Given the description of an element on the screen output the (x, y) to click on. 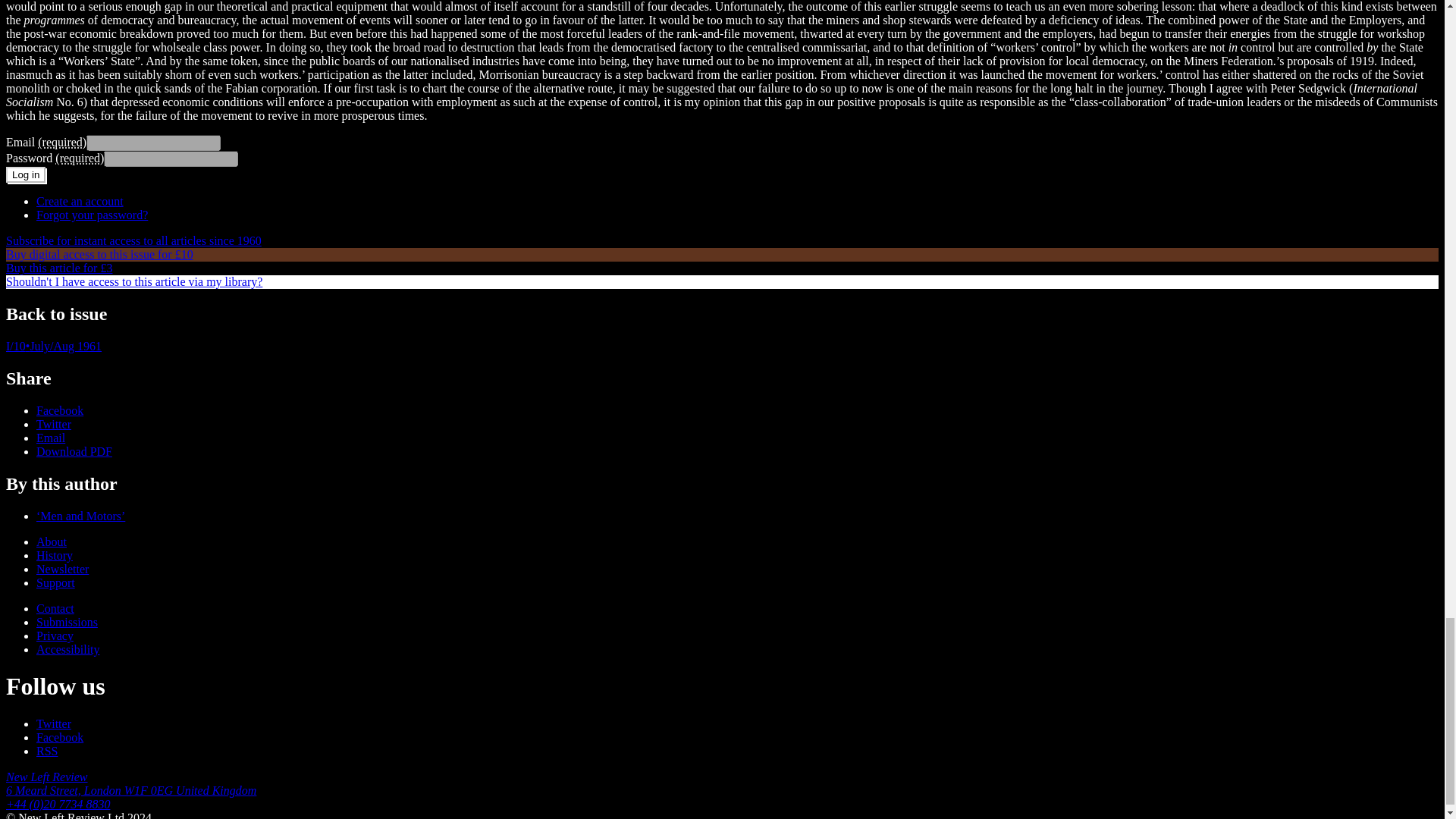
you must complete this field (61, 141)
Support (55, 582)
Log in (25, 174)
Newsletter (62, 568)
About (51, 541)
Forgot your password? (92, 214)
Contact (55, 608)
Submissions (66, 621)
you must complete this field (79, 157)
History (54, 554)
Facebook (59, 410)
Log in (25, 174)
Email (50, 437)
Download PDF (74, 451)
Twitter (53, 423)
